Given the description of an element on the screen output the (x, y) to click on. 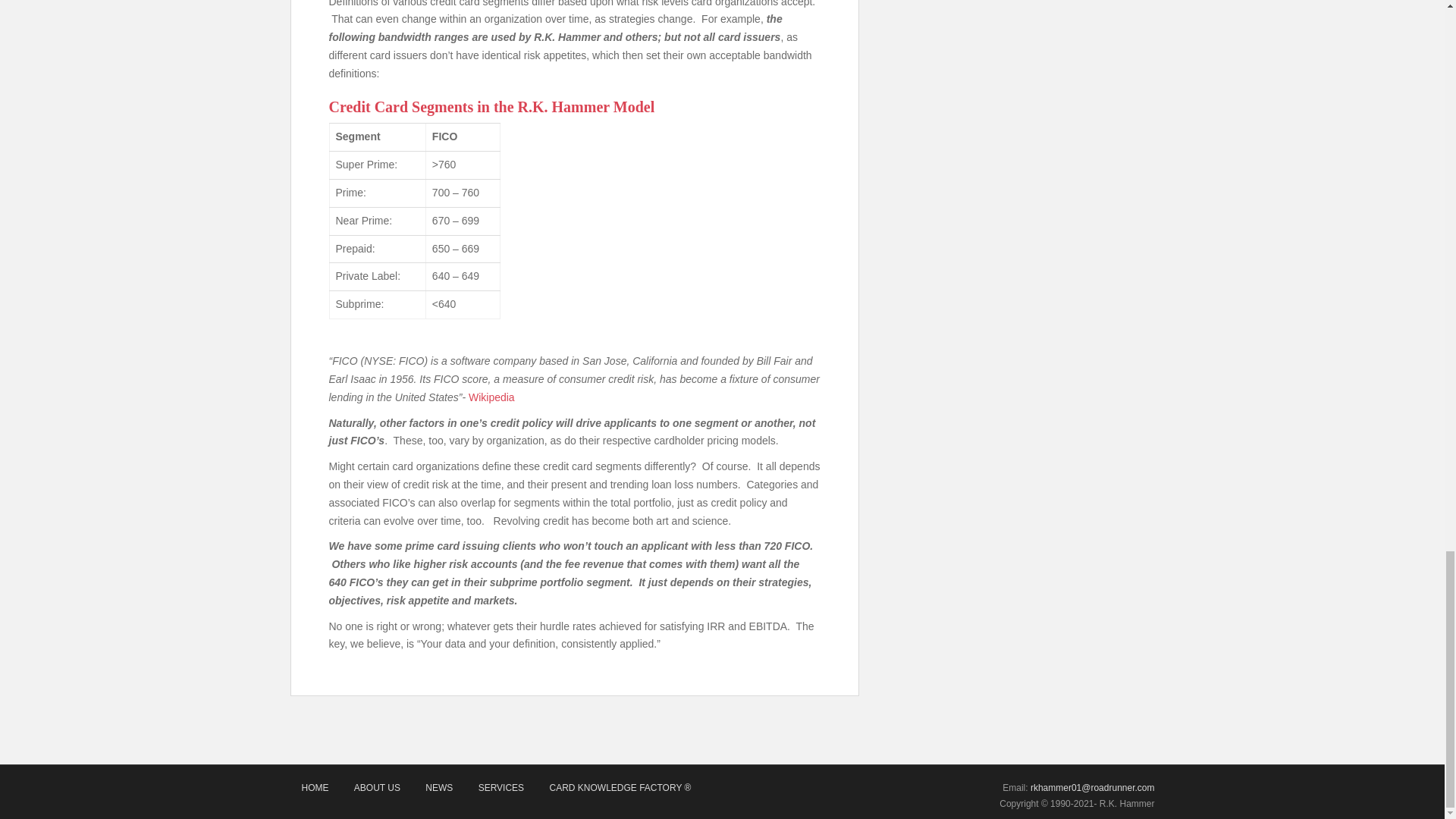
ABOUT US (377, 788)
HOME (314, 788)
NEWS (438, 788)
SERVICES (501, 788)
Wikipedia (491, 397)
